Given the description of an element on the screen output the (x, y) to click on. 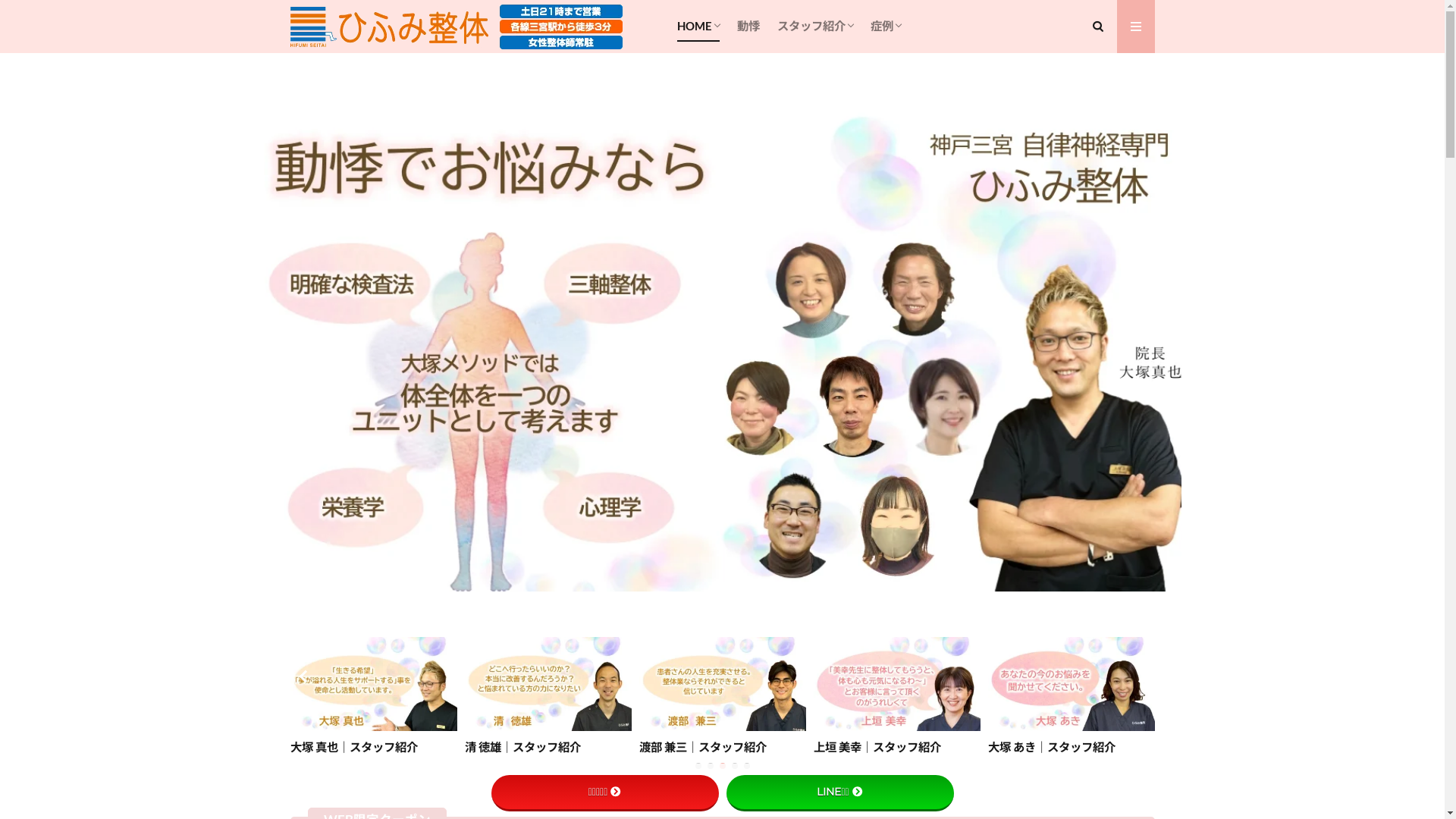
search Element type: text (716, 160)
HOME Element type: text (697, 26)
